Given the description of an element on the screen output the (x, y) to click on. 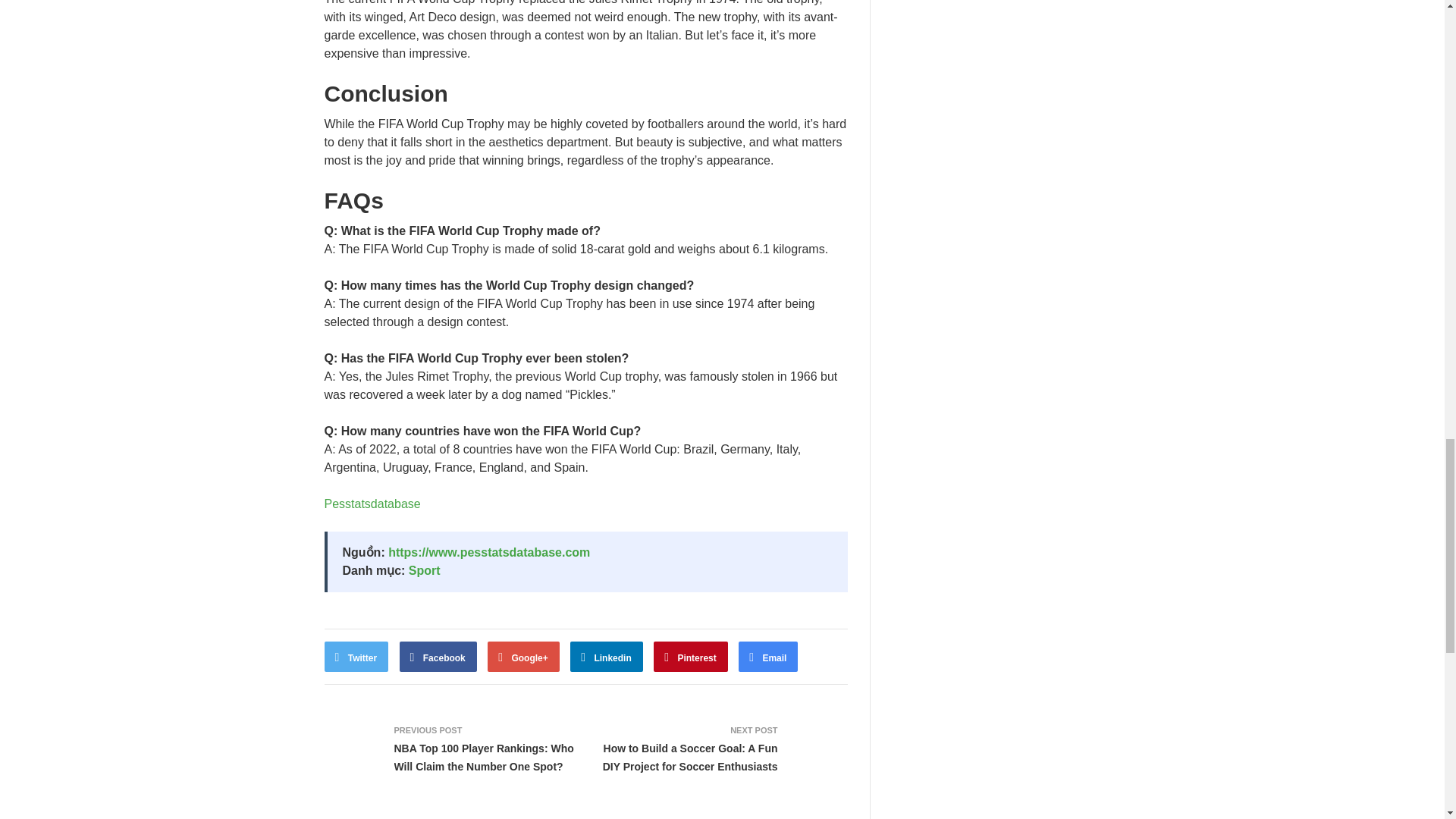
Pinterest (690, 656)
Sport (425, 570)
Pesstatsdatabase (372, 503)
Facebook (437, 656)
Twitter (356, 656)
Linkedin (606, 656)
Email (767, 656)
